Given the description of an element on the screen output the (x, y) to click on. 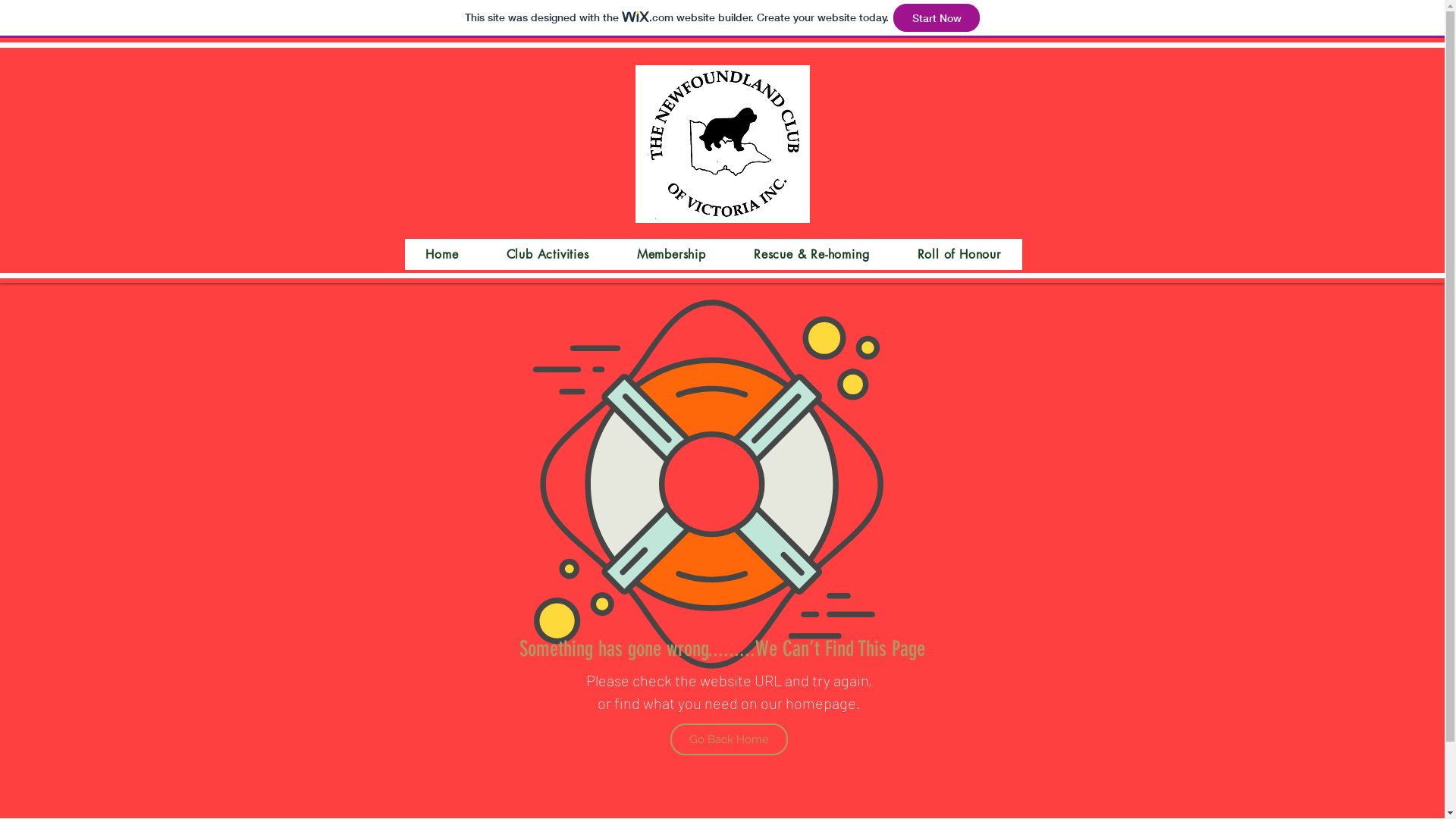
Home Element type: text (441, 253)
Rescue & Re-homing Element type: text (811, 253)
Roll of Honour Element type: text (958, 253)
Membership Element type: text (670, 253)
Go Back Home Element type: text (728, 739)
Club Activities Element type: text (547, 253)
